Given the description of an element on the screen output the (x, y) to click on. 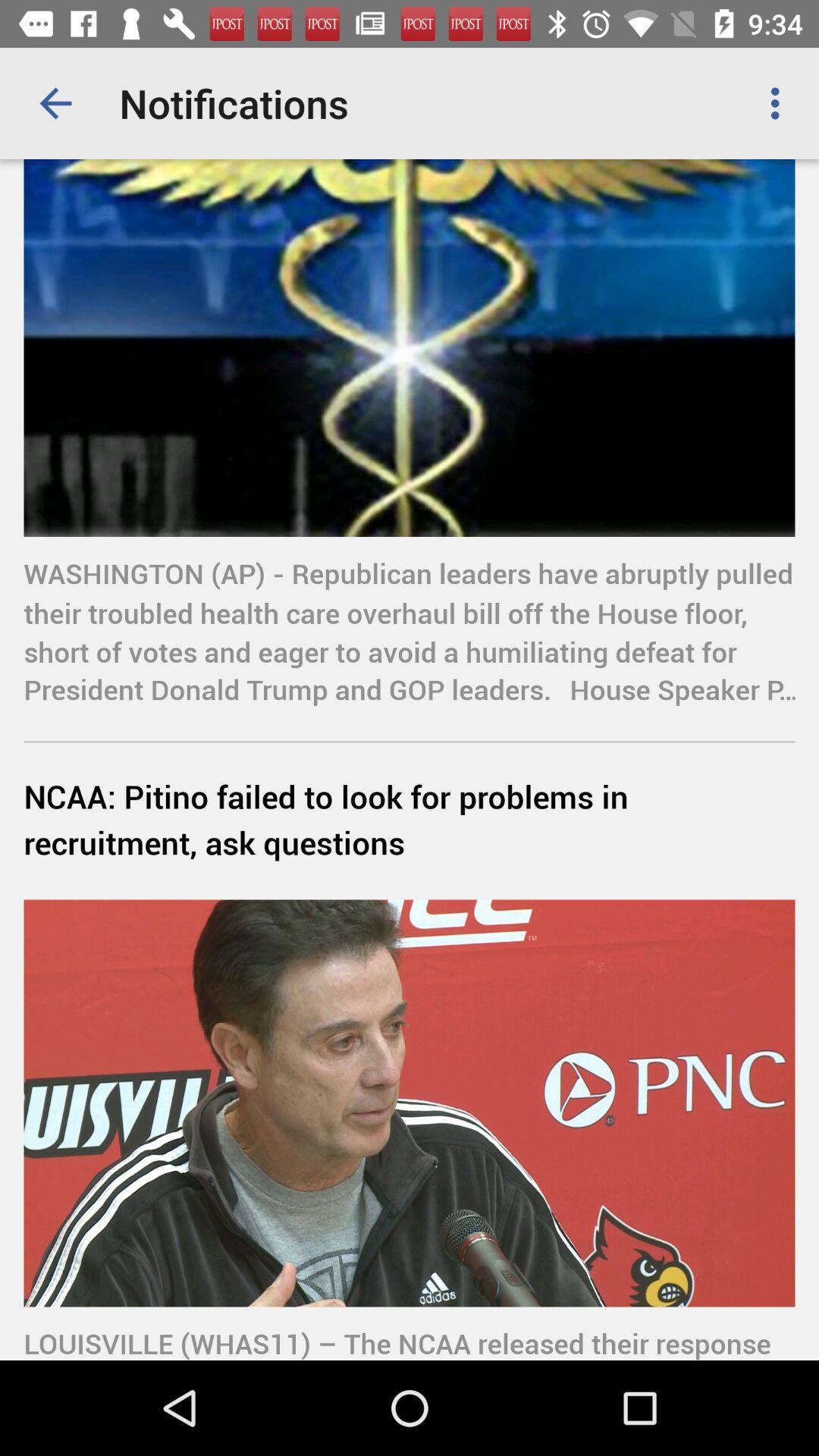
tap the icon at the top right corner (779, 103)
